Given the description of an element on the screen output the (x, y) to click on. 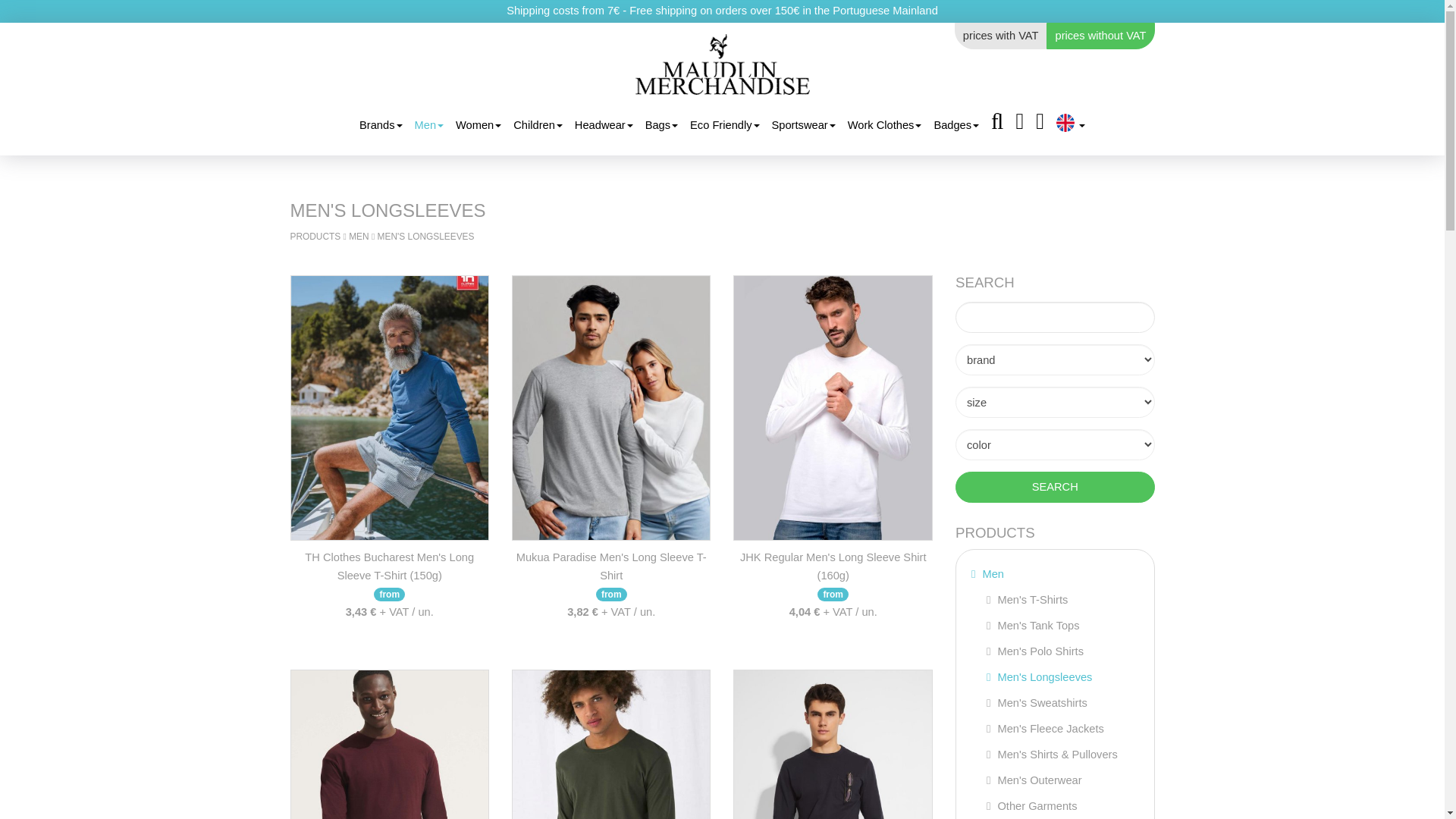
Maudlin Merchandise (721, 64)
prices with VAT (1000, 35)
Men (429, 125)
Brands (380, 125)
prices without VAT (1100, 35)
Mukua Paradise Men's Long Sleeve T- Shirt (611, 407)
